Given the description of an element on the screen output the (x, y) to click on. 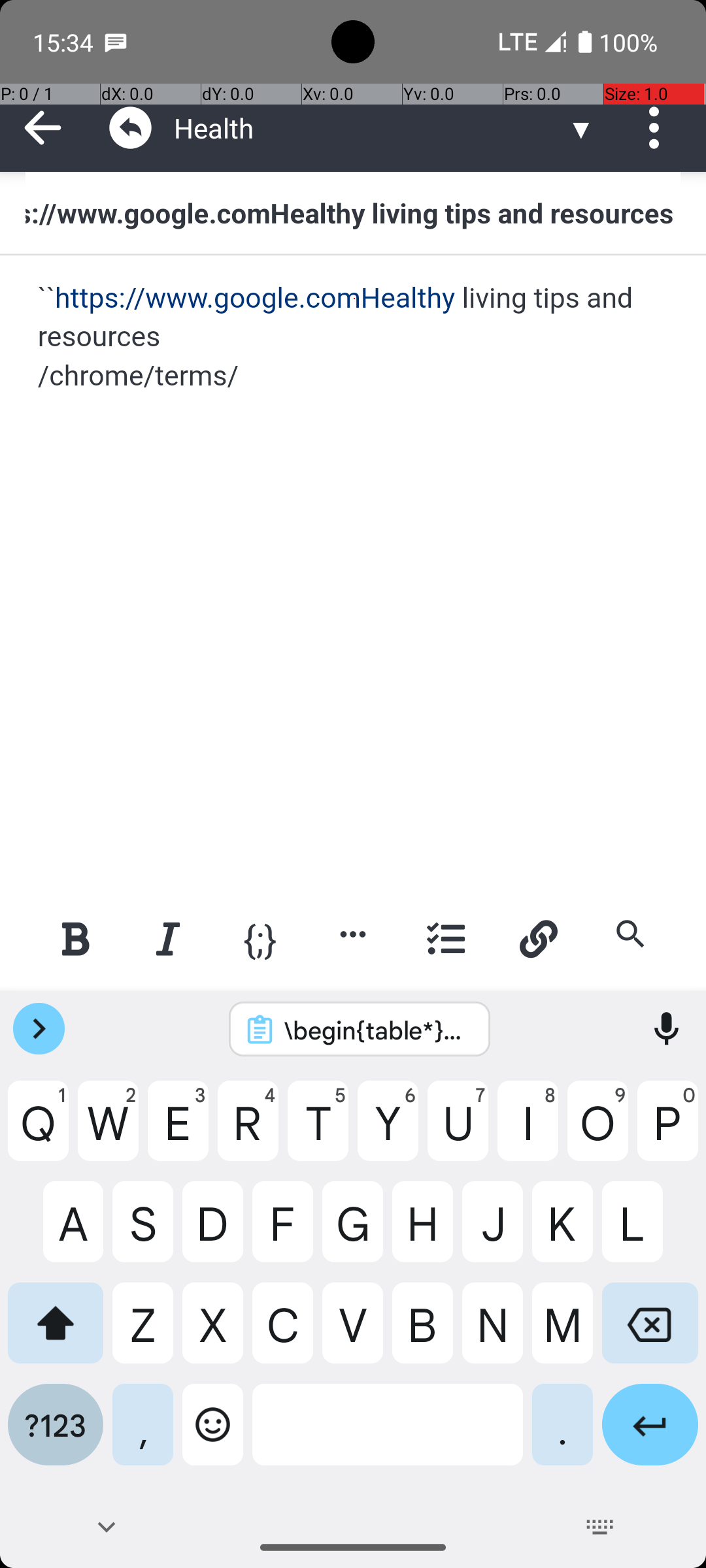
https://www.google.comHealthy living tips and resources Element type: android.widget.EditText (352, 212)
 Element type: android.widget.TextView (130, 127)
``https://www.google.comHealthy living tips and resources
/chrome/terms/ Element type: android.widget.EditText (354, 337)
\begin{table*}[t!] \centering \renewcommand\arraystretch{1.1} \tabcolsep=0.05cm {\fontsize{10pt}{12pt}\selectfont \begin{tabular}{cccccccccc} \hline % \toprule          \multirow{2}{*}{LVLMs} & \multirow{2}{*}{\parbox{1.5cm}{\centering Model\\Size}}   & \multirow{2}{*}{\parbox{1.5cm}{\centering GUI\\Specific}} & \multicolumn{2}{c}{Mobile}        & \multicolumn{2}{c}{Desktop}       & \multicolumn{2}{c}{Web}           & \multirow{2}{*}{Average} \\ \cline{4-9}          &    &                               & Text            & Icon/Widget     & Text            & Icon/Widget     & Text            & Icon/Widget     &                          \\  % \midrule \hline MiniGPT-v2     & 7B   & \textcolor{darkred}{\ding{55}}                              &  8.4\%               & 6.6\%                & 6.2\%                & 2.9\%                & 6.5\%                & 3.4\%                & 5.7\%                         \\ Qwen-VL  & 9.6B   & \textcolor{darkred}{\ding{55}}                             & 9.5\%           & 4.8\%           & 5.7\%           & 5.0\%           & 3.5\%           & 2.4\%           & 5.2\%                    \\  GPT-4V   & -    & \textcolor{darkred}{\ding{55}}     & 22.6\%    & 24.5\%    & 20.2\%    & 11.8\%    &9.2\%  & 8.8\%     & 16.2\% \\ \hline Fuyu     & 8B   & \textcolor{darkgreen}{\ding{51}}                               & 41.0\%          & 1.3\%           & 33.0\%          & 3.6\%           & 33.9\%          & 4.4\%           & 19.5\%                   \\ CogAgent & 18B   & \textcolor{darkgreen}{\ding{51}}                               & 67.0\%          & 24.0\%          & \textbf{74.2\%} & 20.0\%          & \textbf{70.4\%} & 28.6\% & 47.4\%                   \\ \seek & 9.6B   & \textcolor{darkgreen}{\ding{51}}                              & \textbf{78.0\%} & \textbf{52.0\%} & 72.2\%          & \textbf{30.0\%} & 55.7\%          & \textbf{32.5\%} & \textbf{53.4\%}          \\  \hline % \bottomrule \end{tabular} } \caption{Results of different LVLMs on \seesp. The best results in each column are highlighted in \textbf{bold}. Benefiting from efficient GUI grounding pre-training, \seek significantly enhanced LVLMs' ability to locate GUI elements following instructions, and surpassed the strong baseline CogAgent with a smaller model size.} \label{tab:screenspot} \vspace{-1.0em} \end{table*} Element type: android.widget.TextView (376, 1029)
SMS Messenger notification: +15505050843 Element type: android.widget.ImageView (115, 41)
